Given the description of an element on the screen output the (x, y) to click on. 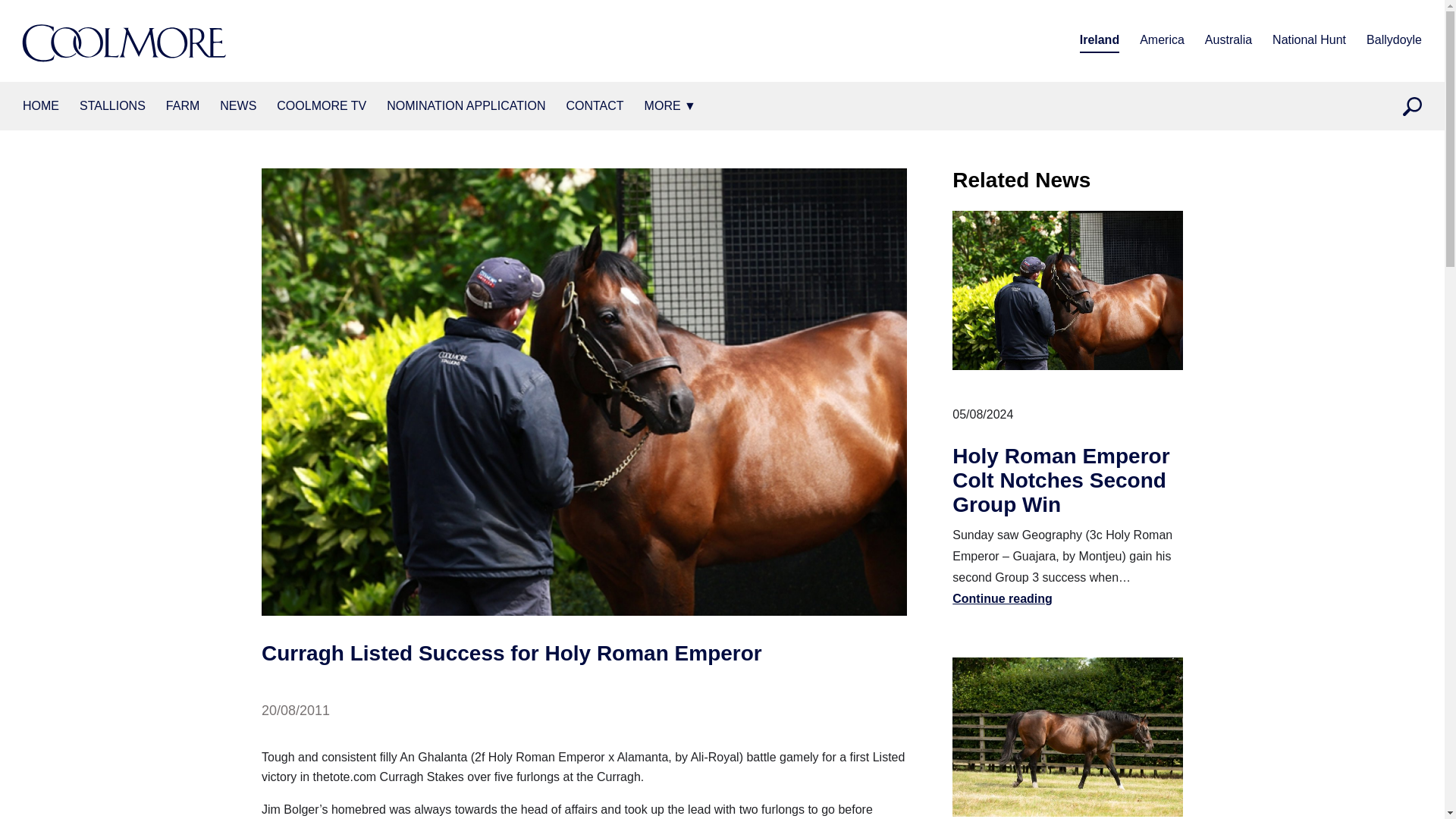
NOMINATION APPLICATION (465, 106)
National Hunt (1308, 40)
NEWS (237, 106)
Australia (1228, 40)
Farm (182, 106)
Nomination Application (465, 106)
Coolmore TV (321, 106)
Ireland (1099, 40)
CONTACT (594, 106)
STALLIONS (112, 106)
